Given the description of an element on the screen output the (x, y) to click on. 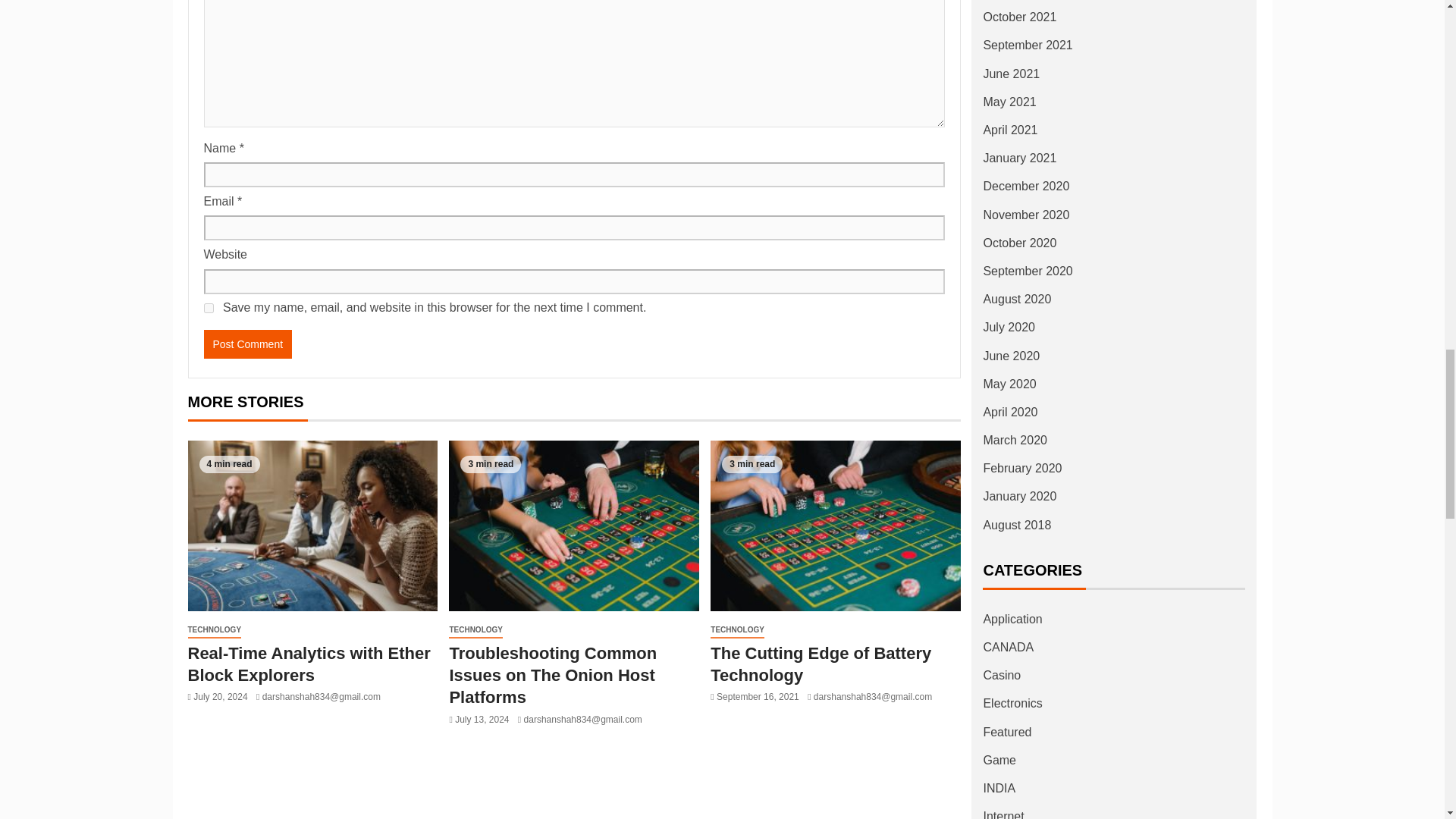
TECHNOLOGY (214, 630)
Post Comment (247, 344)
TECHNOLOGY (475, 630)
Post Comment (247, 344)
yes (207, 307)
Real-Time Analytics with Ether Block Explorers (308, 663)
